Given the description of an element on the screen output the (x, y) to click on. 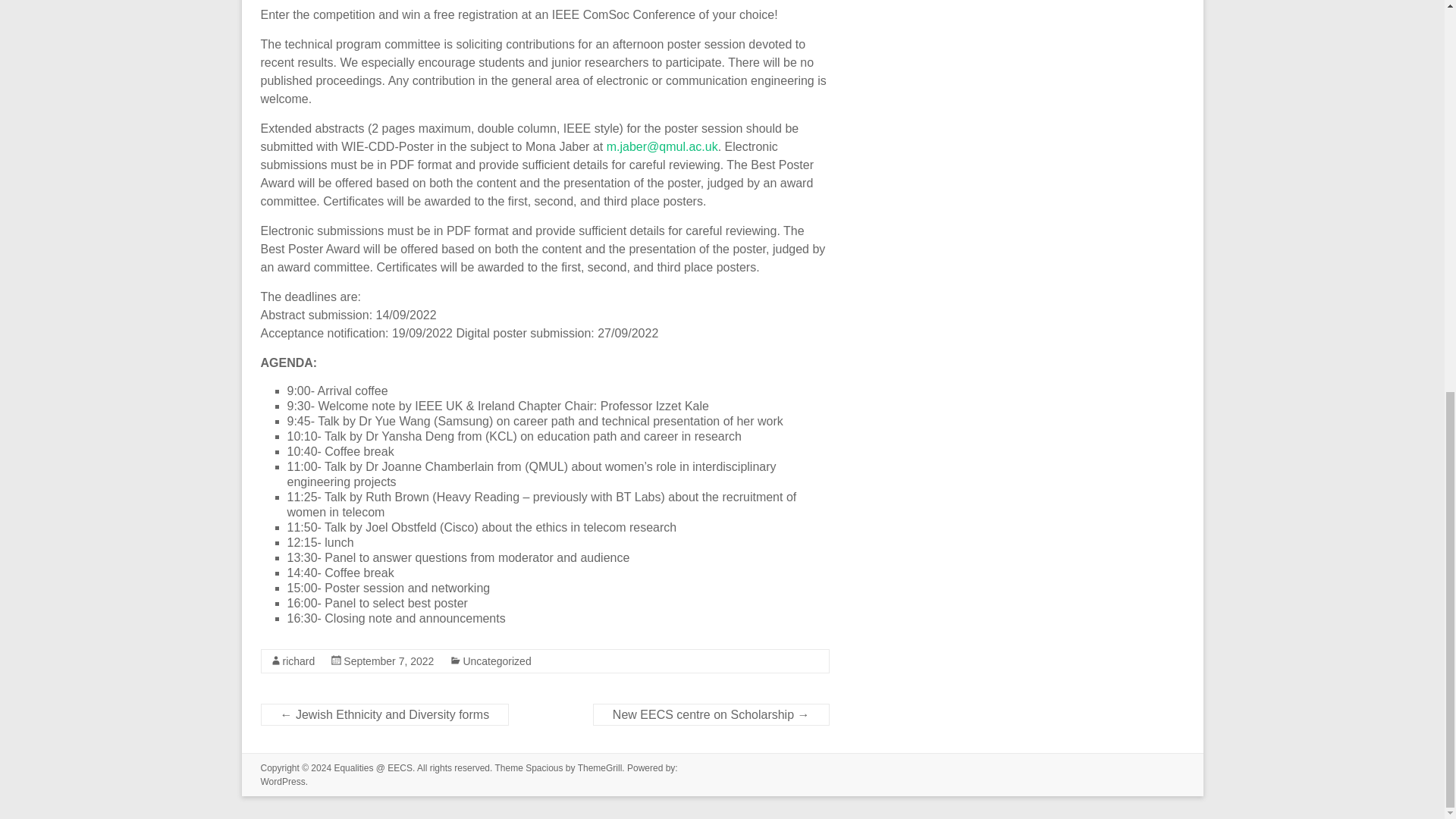
richard (298, 661)
12:38 pm (388, 661)
September 7, 2022 (388, 661)
WordPress (282, 781)
Uncategorized (497, 661)
Spacious (543, 767)
WordPress (282, 781)
Spacious (543, 767)
